Given the description of an element on the screen output the (x, y) to click on. 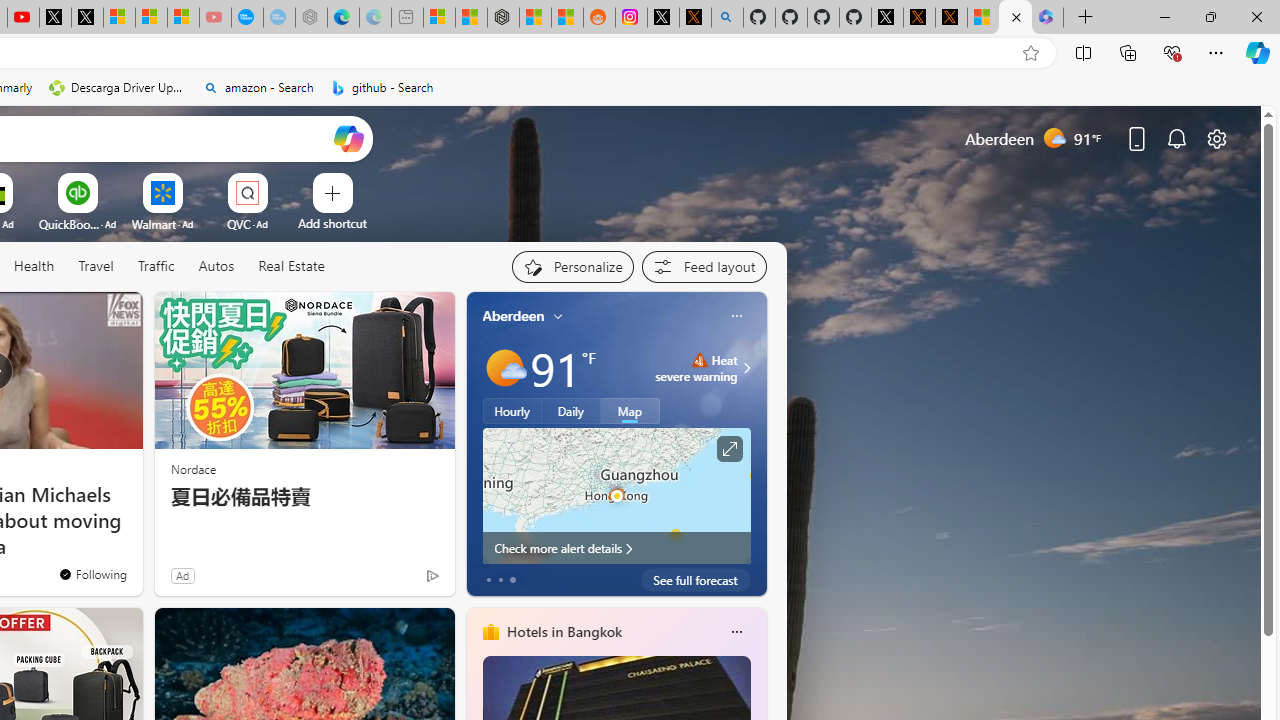
Page settings (1216, 138)
Larger map  (616, 495)
Add a site (332, 223)
Hotels in Bangkok (563, 631)
Click to see more information (728, 449)
My location (558, 315)
Nordace - Duffels (502, 17)
Daily (571, 411)
Feed settings (703, 266)
tab-2 (511, 579)
